Given the description of an element on the screen output the (x, y) to click on. 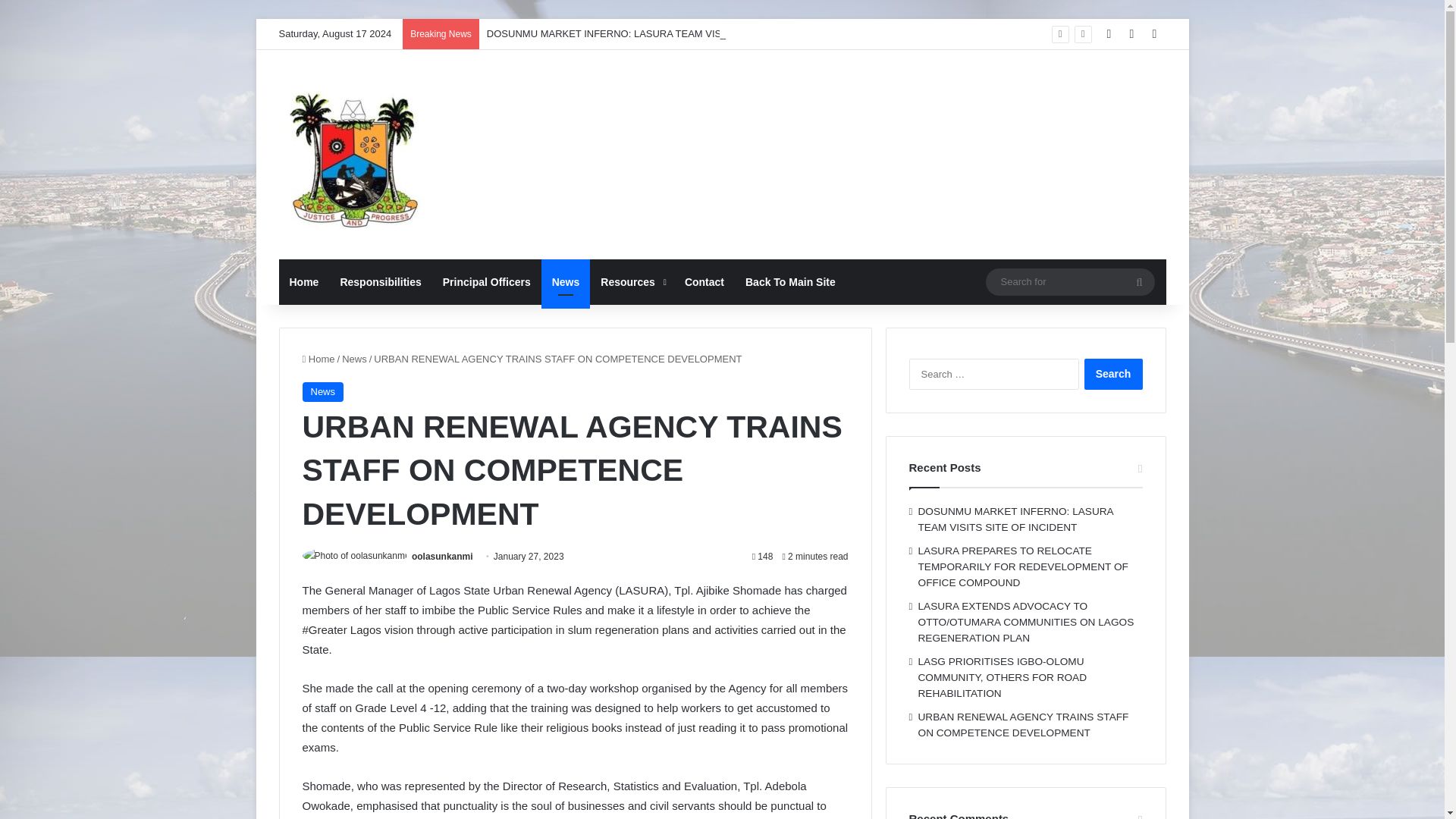
Search for (1139, 281)
Contact (704, 281)
oolasunkanmi (442, 556)
Home (304, 281)
oolasunkanmi (442, 556)
Principal Officers (486, 281)
News (566, 281)
Lagos State Urban renewal Authority (354, 154)
Search (1113, 373)
Resources (631, 281)
